Given the description of an element on the screen output the (x, y) to click on. 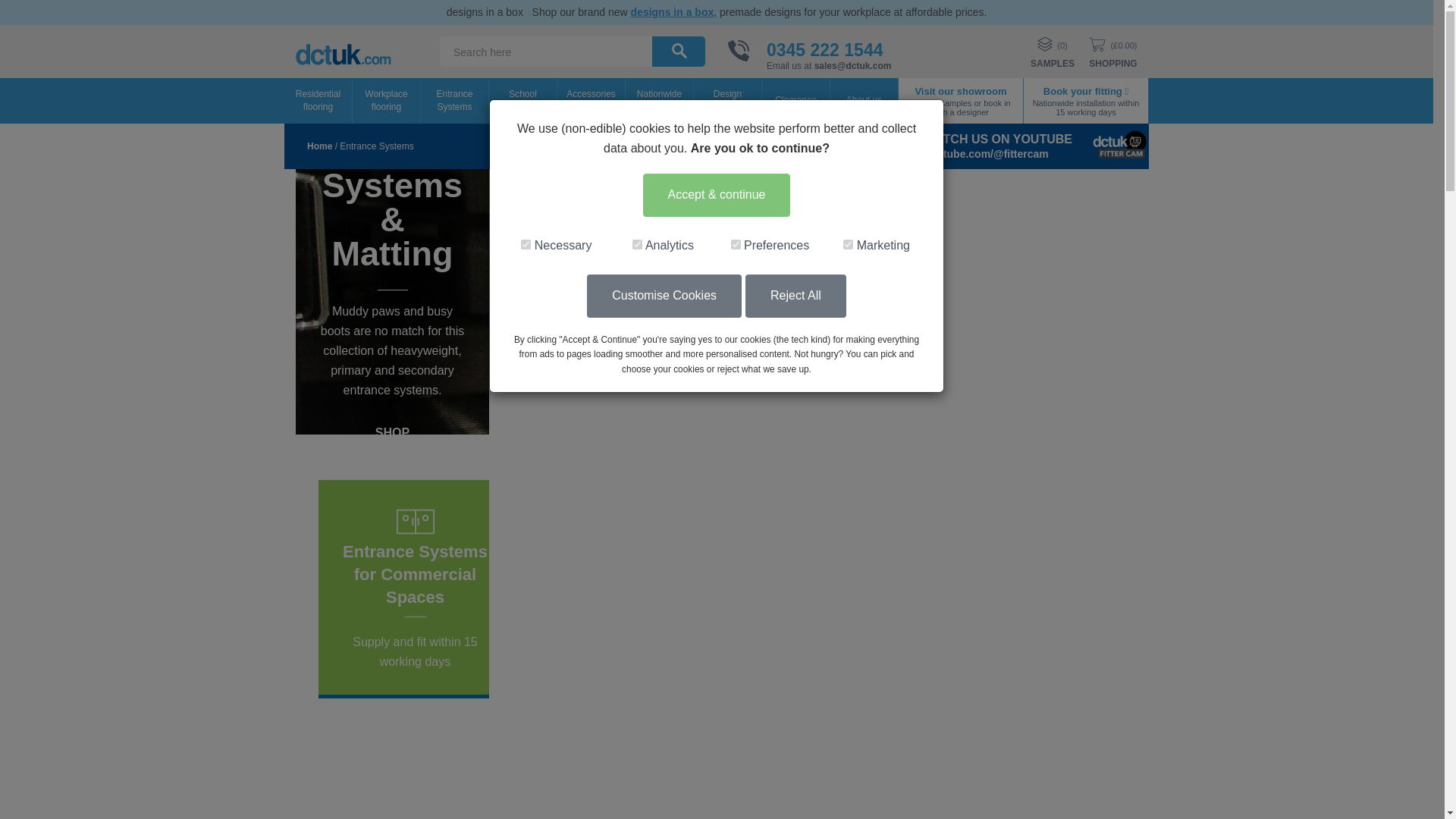
on (636, 244)
Search DCTUK (679, 50)
on (735, 244)
designs in a box (672, 11)
on (848, 244)
on (526, 244)
0345 222 1544 (825, 49)
